Given the description of an element on the screen output the (x, y) to click on. 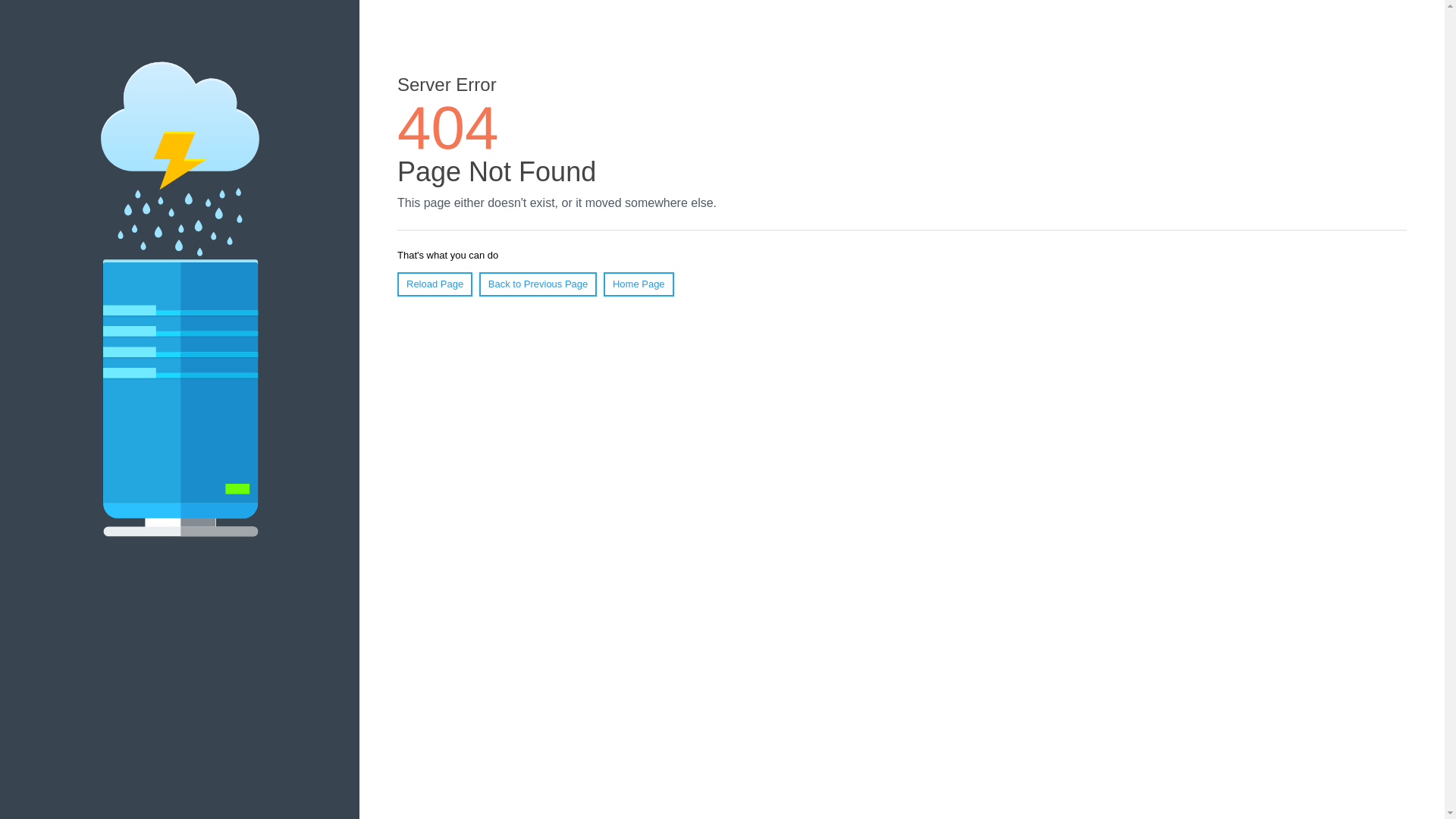
Reload Page Element type: text (434, 284)
Home Page Element type: text (638, 284)
Back to Previous Page Element type: text (538, 284)
